Given the description of an element on the screen output the (x, y) to click on. 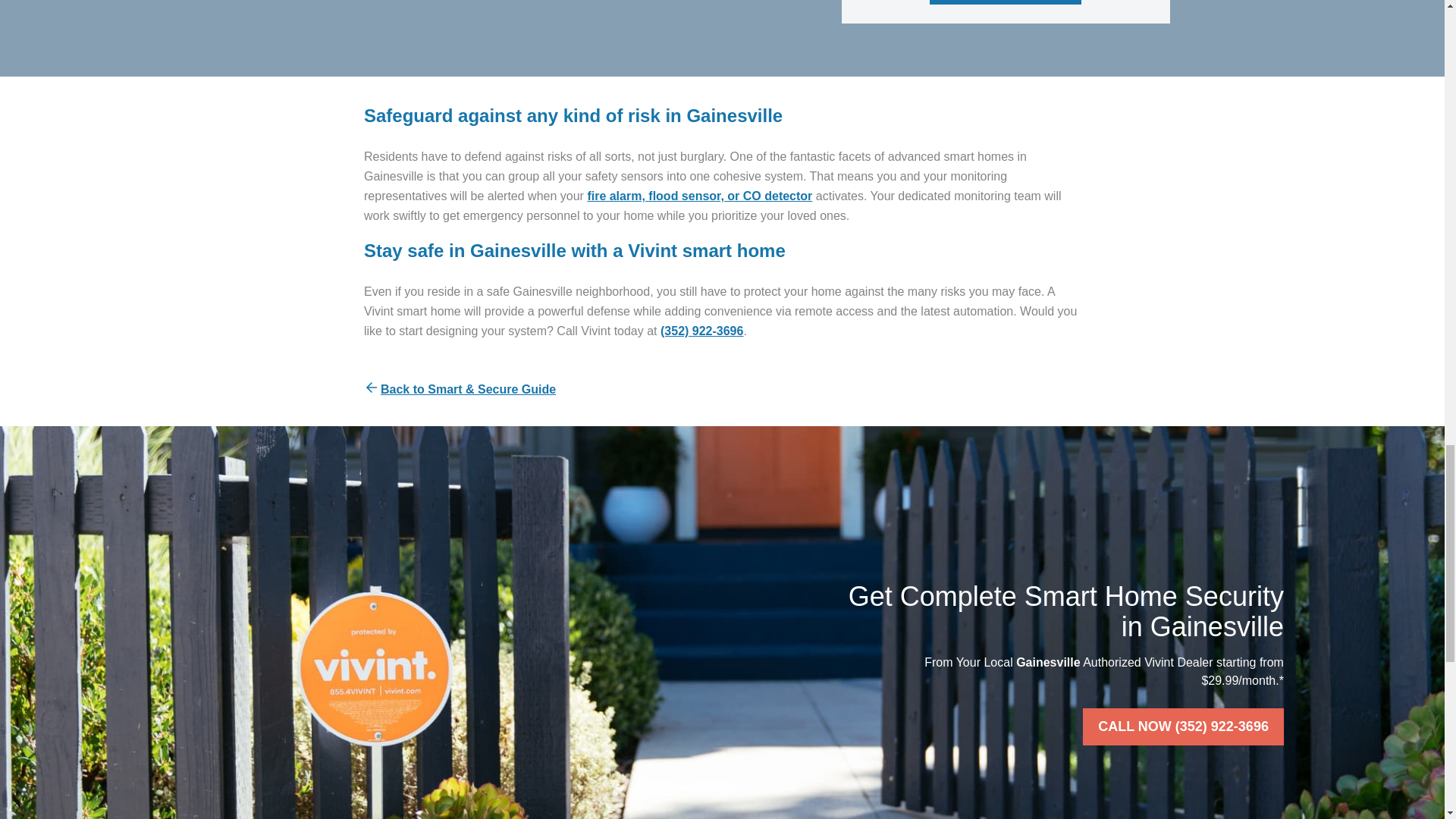
Start Your Quote (1005, 2)
Fire alarm, flood sensor, or CO detector (699, 195)
fire alarm, flood sensor, or CO detector (699, 195)
Start Your Quote (1005, 2)
